Given the description of an element on the screen output the (x, y) to click on. 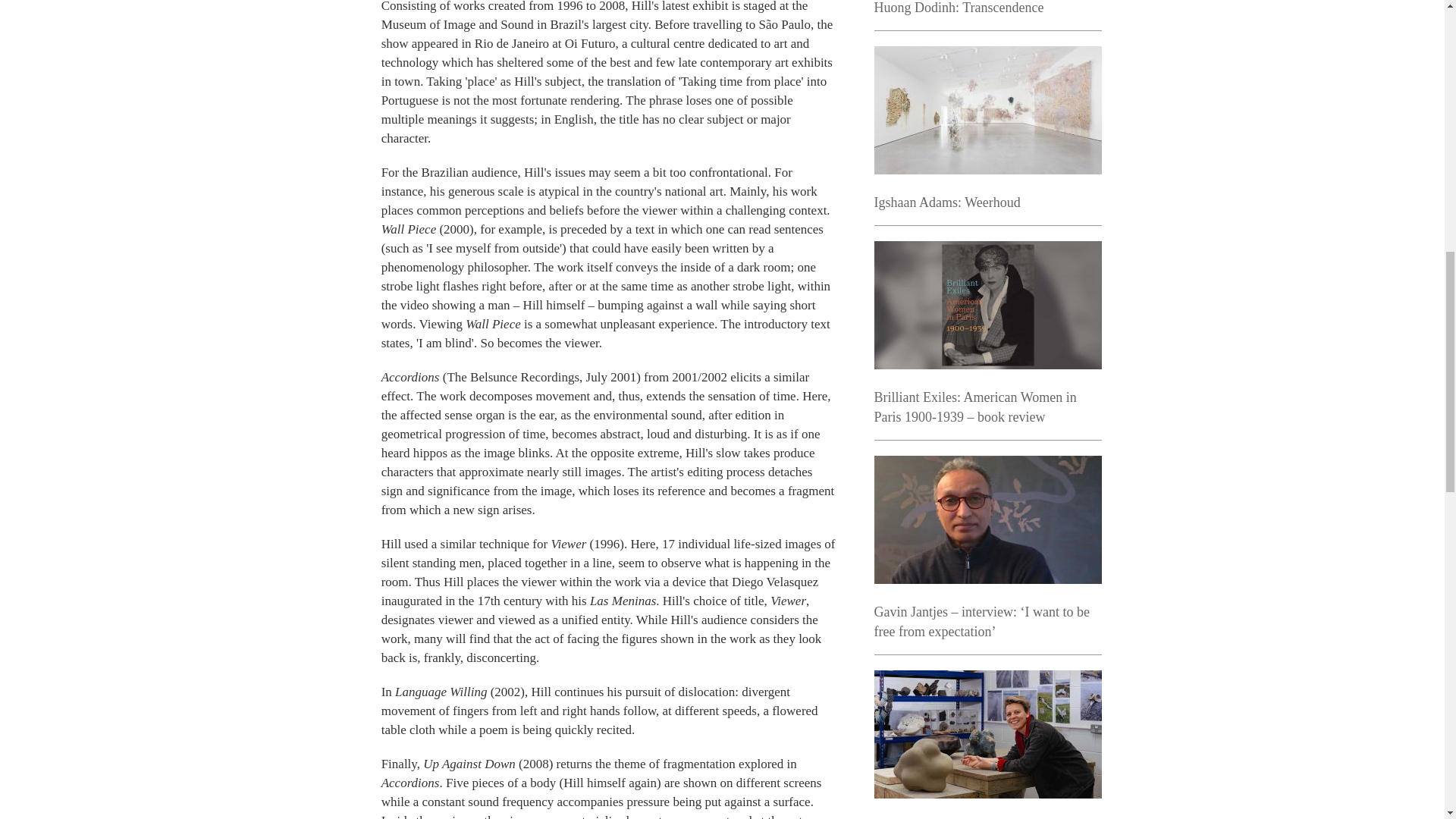
Igshaan Adams: Weerhoud (946, 201)
Huong Dodinh: Transcendence (958, 7)
